Given the description of an element on the screen output the (x, y) to click on. 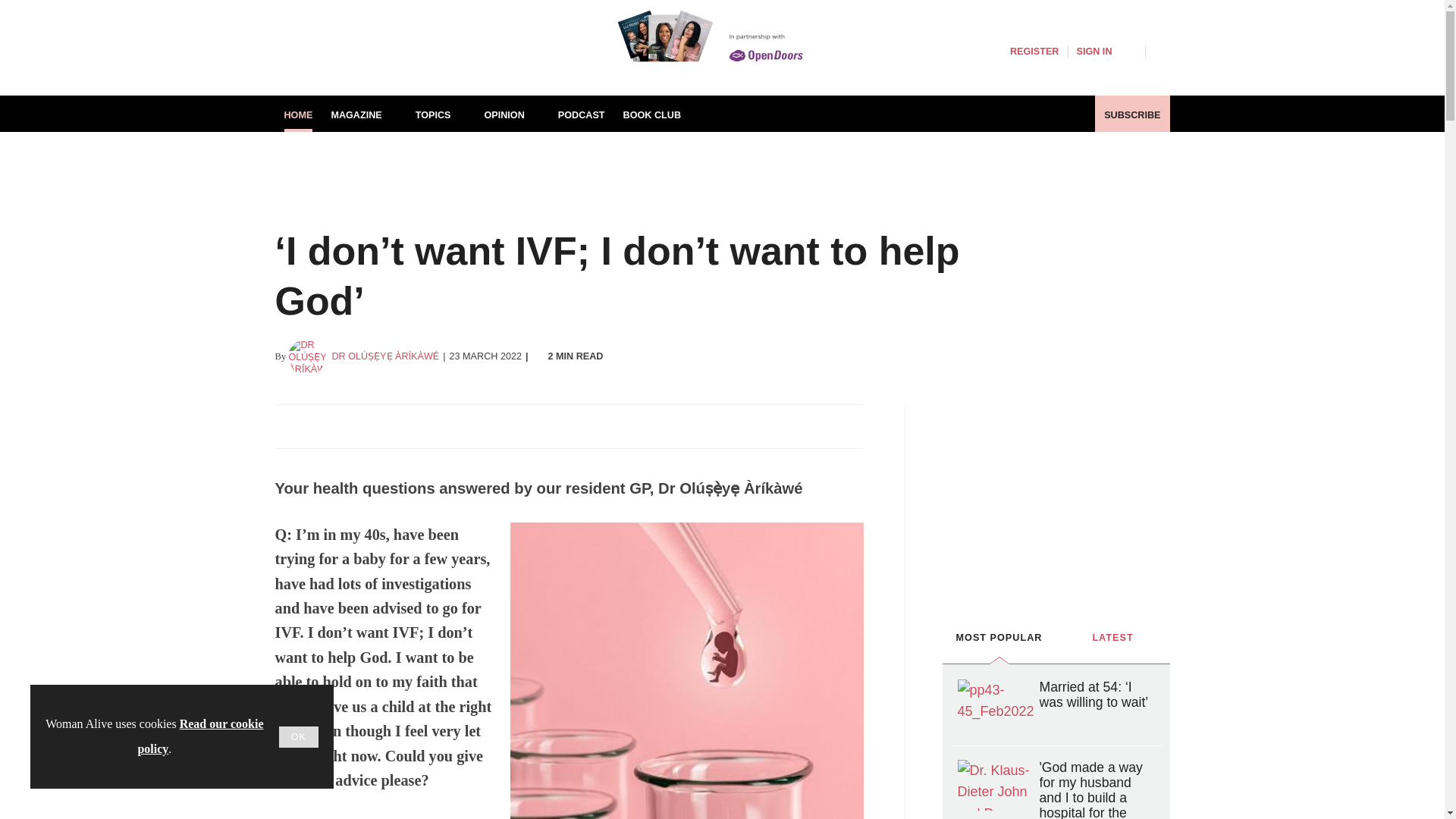
SIGN IN (1106, 51)
Share this on Linked in (352, 425)
Share this on Twitter (320, 425)
Site name (418, 66)
Email this article (386, 425)
Share this on Facebook (288, 425)
REGISTER (1034, 51)
OK (298, 736)
SEARCH (1161, 50)
Read our cookie policy (199, 735)
